Given the description of an element on the screen output the (x, y) to click on. 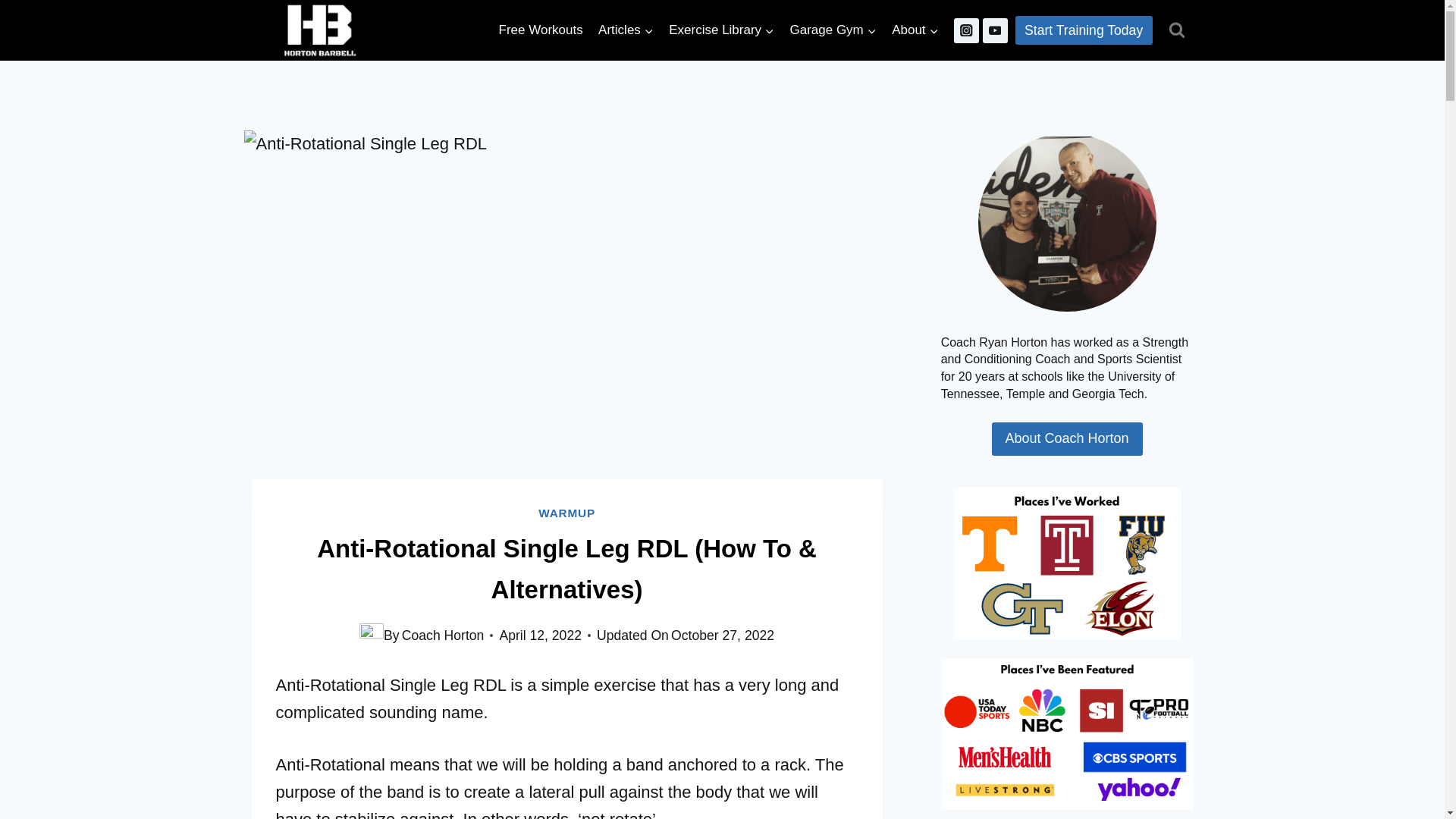
Exercise Library (721, 30)
Start Training Today (1083, 30)
Free Workouts (540, 30)
Coach Horton (442, 635)
Garage Gym (832, 30)
Articles (626, 30)
WARMUP (566, 512)
About (914, 30)
